Given the description of an element on the screen output the (x, y) to click on. 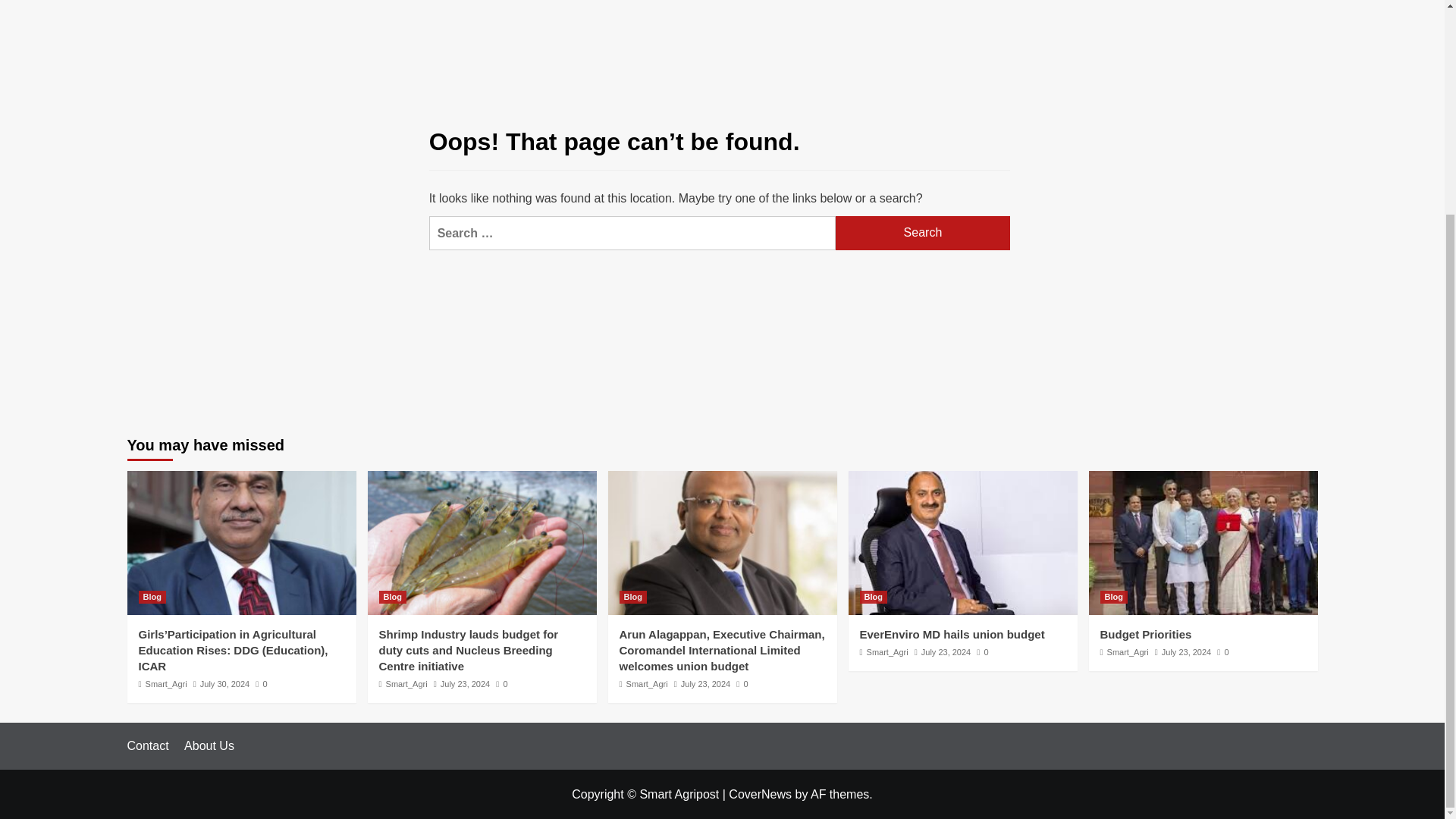
July 23, 2024 (705, 683)
July 30, 2024 (224, 683)
Blog (151, 596)
Search (922, 233)
Blog (392, 596)
July 23, 2024 (465, 683)
Blog (632, 596)
Search (922, 233)
